Given the description of an element on the screen output the (x, y) to click on. 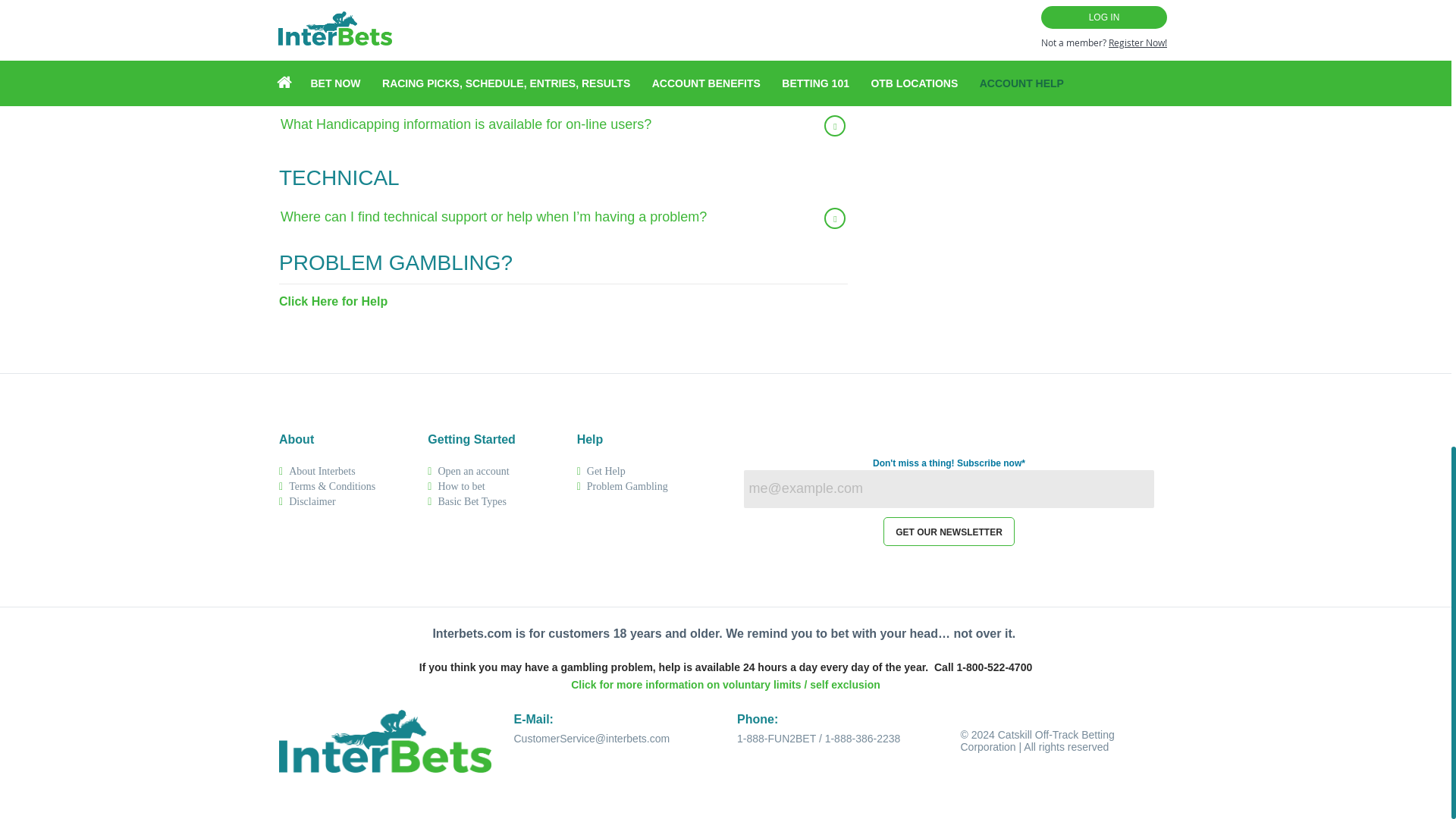
Get Our Newsletter (948, 531)
